Given the description of an element on the screen output the (x, y) to click on. 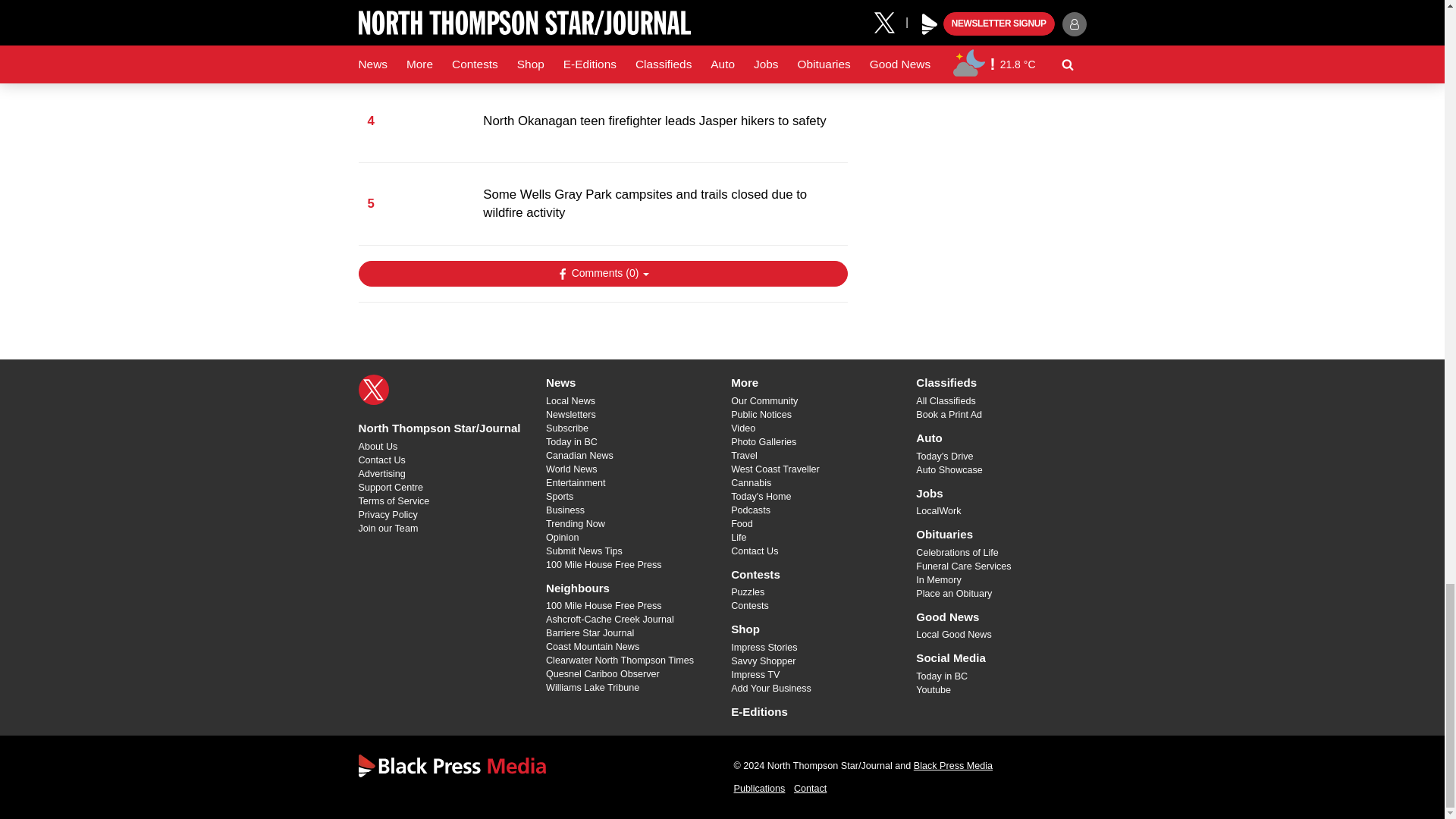
Show Comments (602, 273)
X (373, 389)
